Given the description of an element on the screen output the (x, y) to click on. 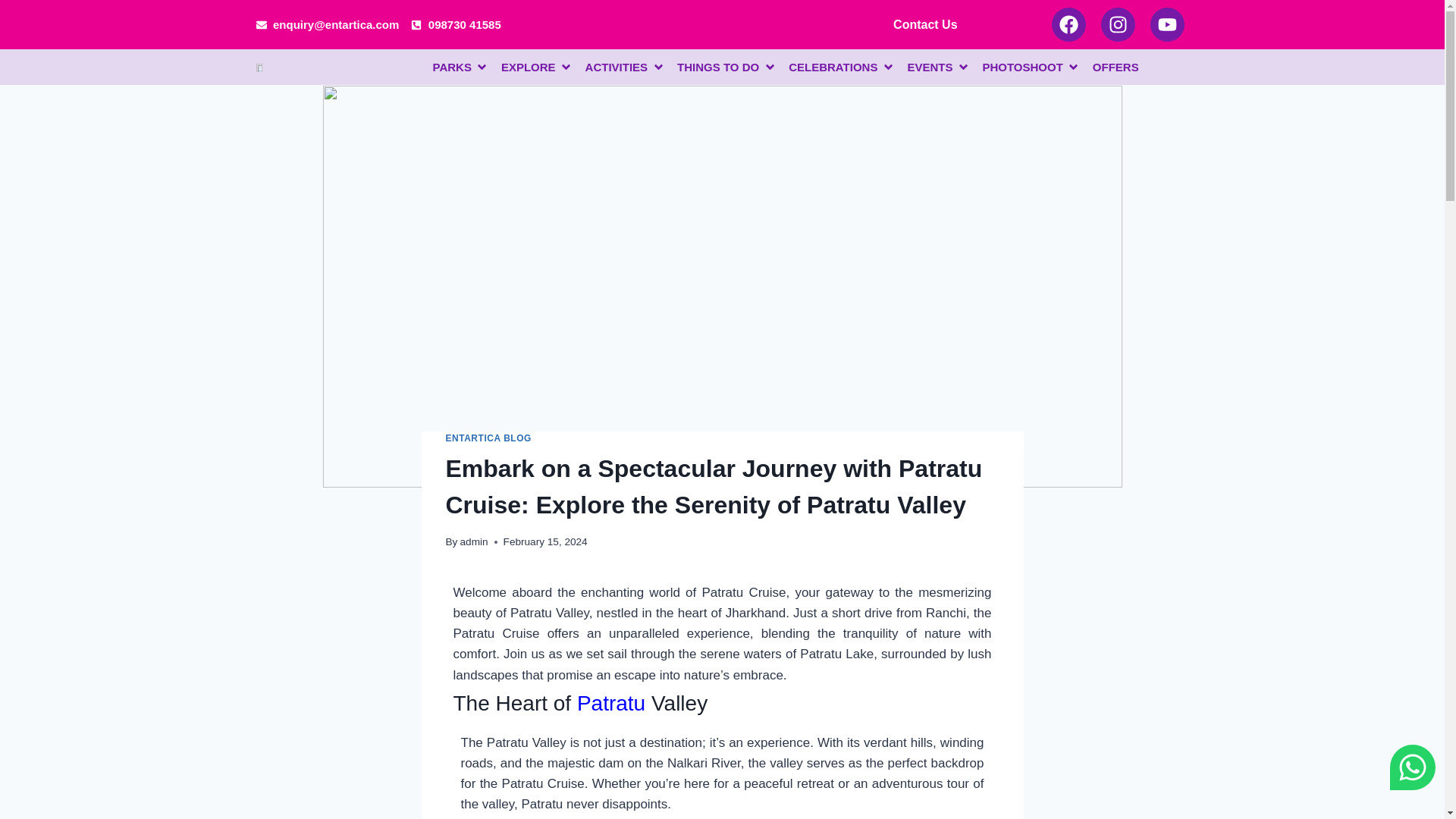
ACTIVITIES (616, 67)
Contact Us (924, 24)
PARKS (451, 67)
098730 41585 (455, 24)
EXPLORE (528, 67)
